Given the description of an element on the screen output the (x, y) to click on. 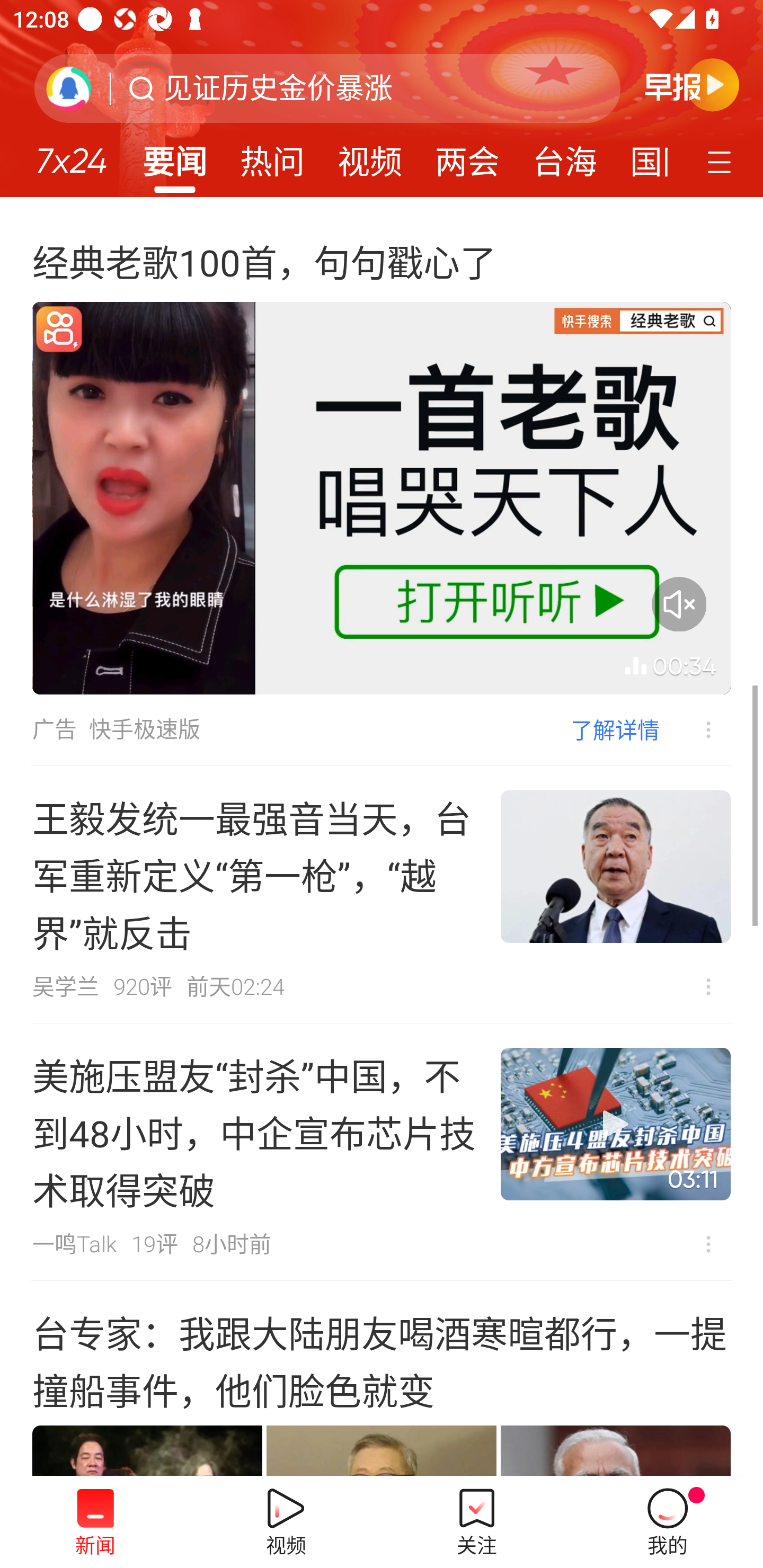
早晚报 (691, 84)
刷新 (68, 88)
见证历史金价暴涨 (278, 88)
7x24 (70, 154)
要闻 (174, 155)
热问 (272, 155)
视频 (369, 155)
两会 (466, 155)
台海 (564, 155)
 定制频道 (721, 160)
经典老歌100首，句句戳心了 00:35 音量开关 广告 快手极速版 了解详情  不感兴趣 (381, 491)
00:35 音量开关 (381, 498)
音量开关 (678, 604)
 不感兴趣 (694, 729)
了解详情 (614, 729)
广告 (54, 729)
快手极速版 (144, 729)
 不感兴趣 (707, 986)
 不感兴趣 (707, 1243)
台专家：我跟大陆朋友喝酒寒暄都行，一提撞船事件，他们脸色就变 图片 图片 图片 (381, 1379)
